Given the description of an element on the screen output the (x, y) to click on. 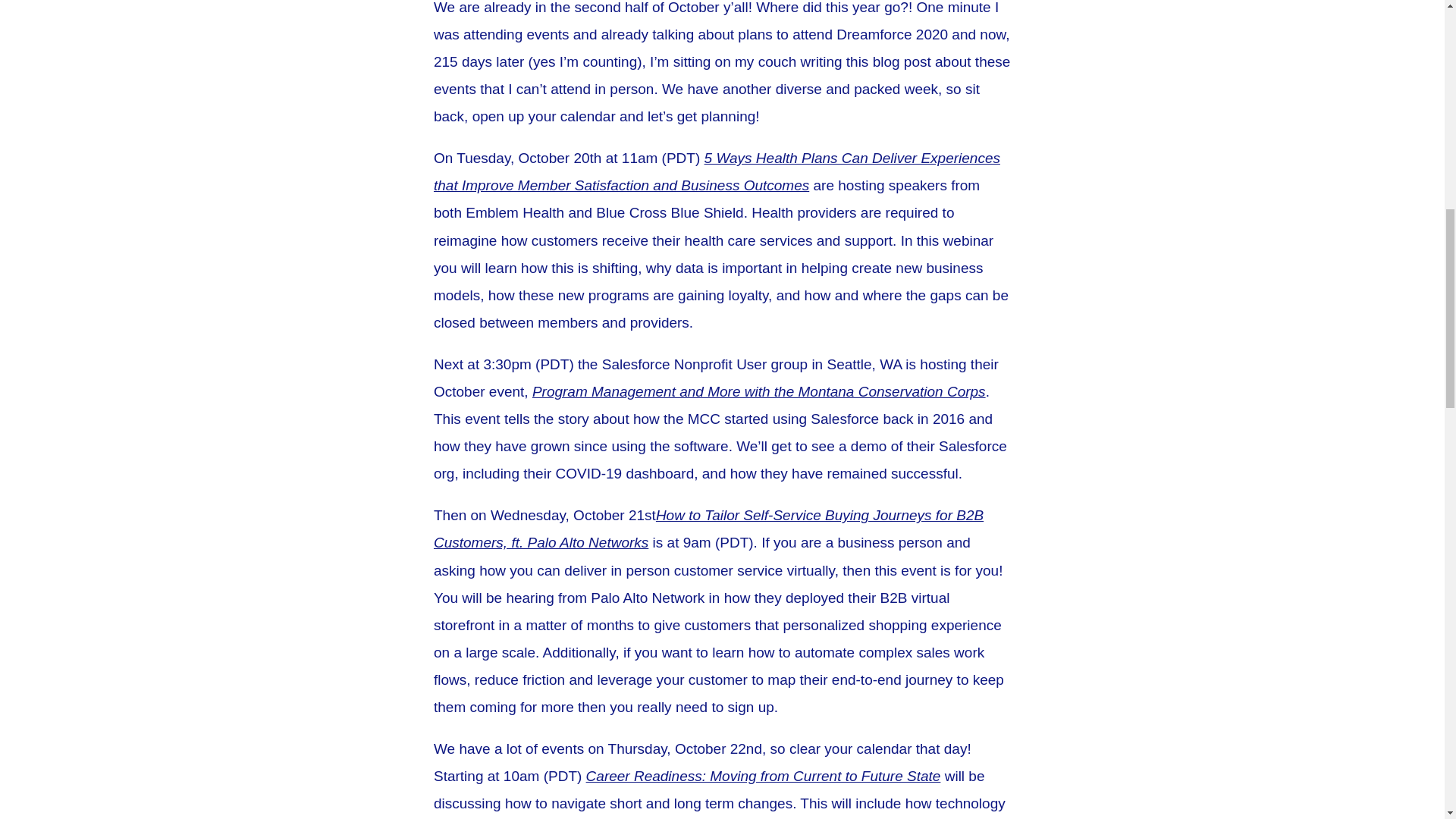
Career Readiness: Moving from Current to Future State (763, 775)
